Given the description of an element on the screen output the (x, y) to click on. 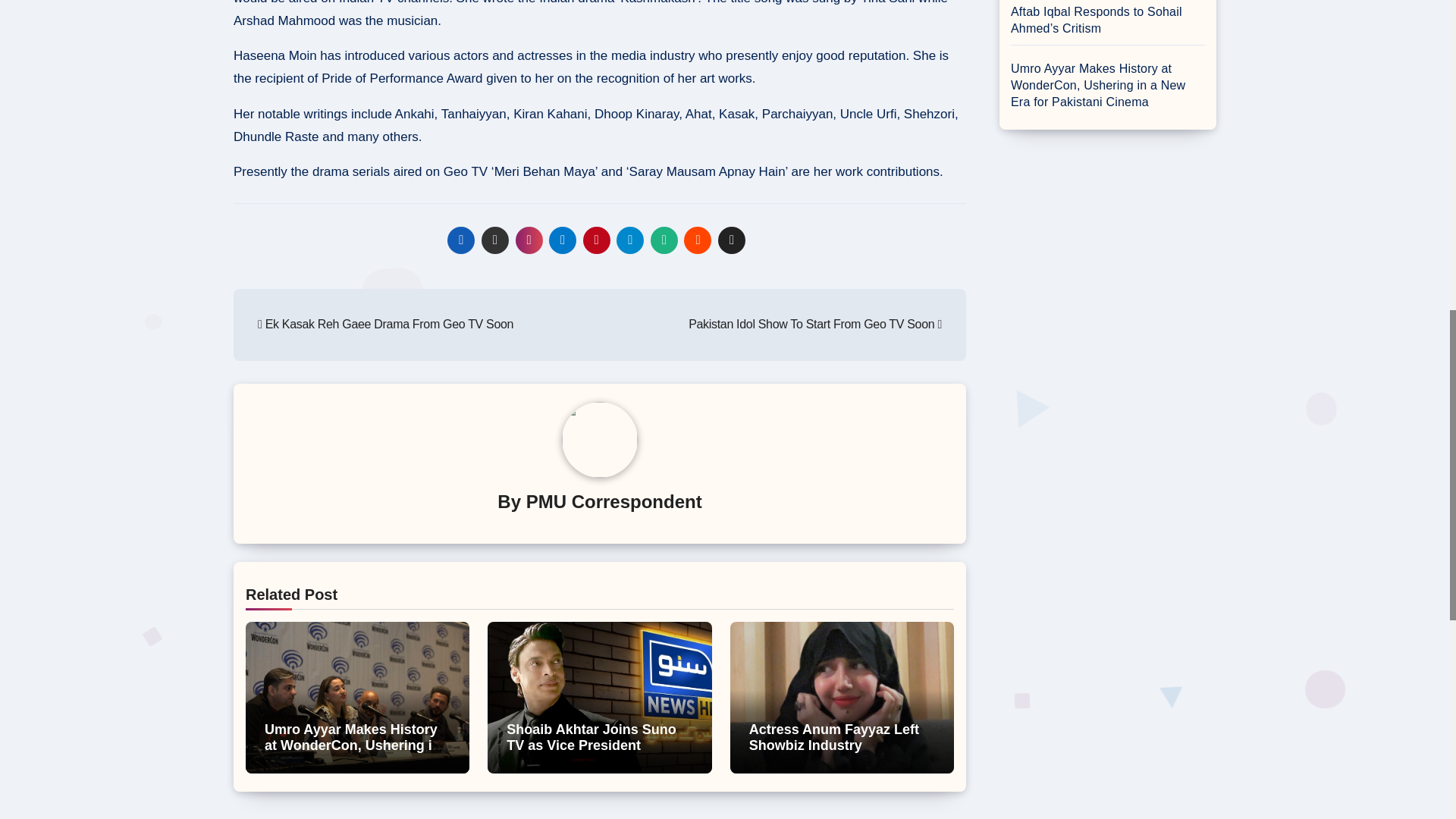
Ek Kasak Reh Gaee Drama From Geo TV Soon (385, 323)
Pakistan Idol Show To Start From Geo TV Soon (815, 323)
PMU Correspondent (613, 501)
Permalink to: Shoaib Akhtar Joins Suno TV as Vice President (590, 737)
Actress Anum Fayyaz Left Showbiz Industry (833, 737)
Shoaib Akhtar Joins Suno TV as Vice President (590, 737)
Permalink to: Actress Anum Fayyaz Left Showbiz Industry (833, 737)
